Given the description of an element on the screen output the (x, y) to click on. 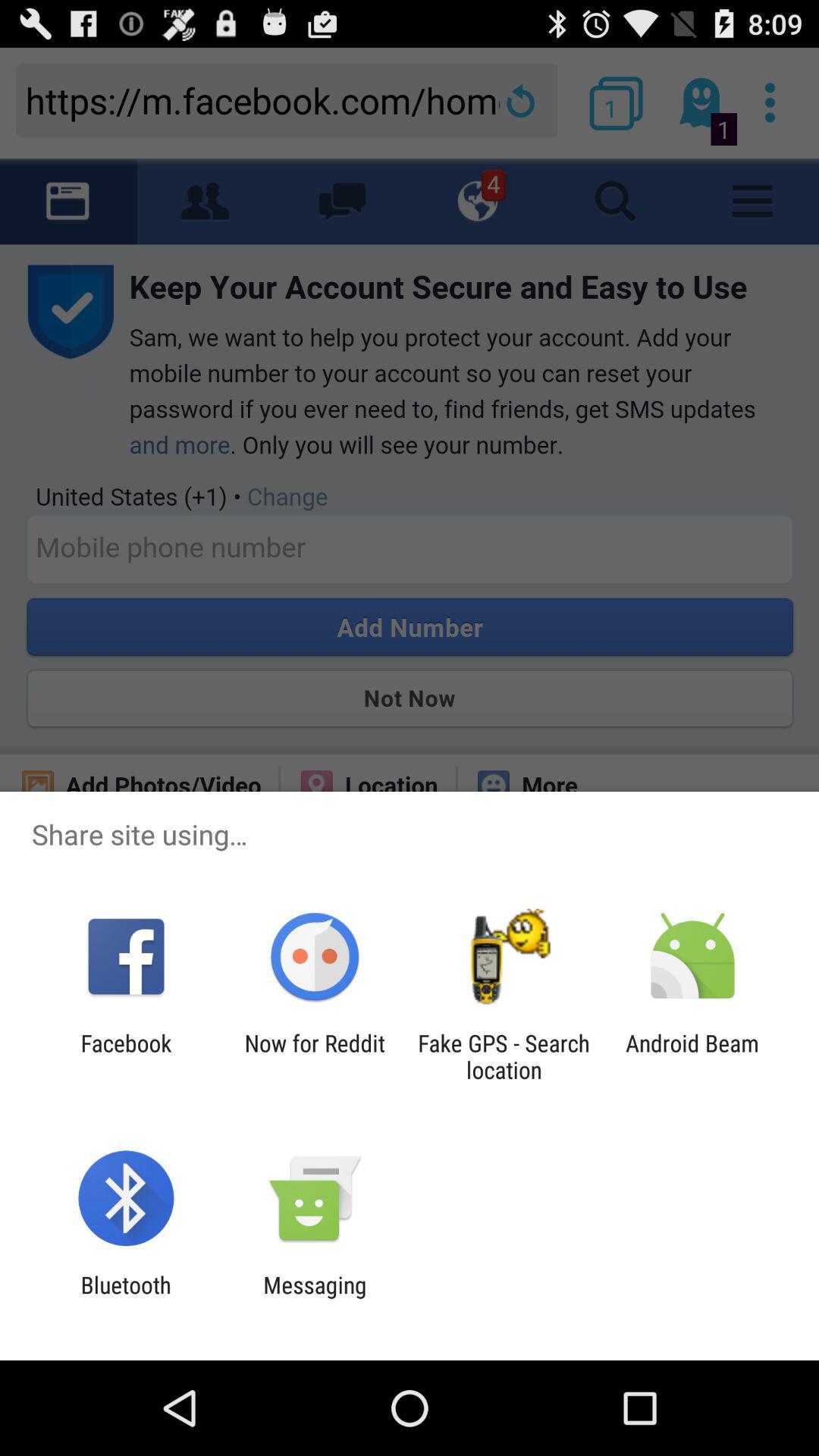
choose the item to the right of fake gps search (692, 1056)
